Given the description of an element on the screen output the (x, y) to click on. 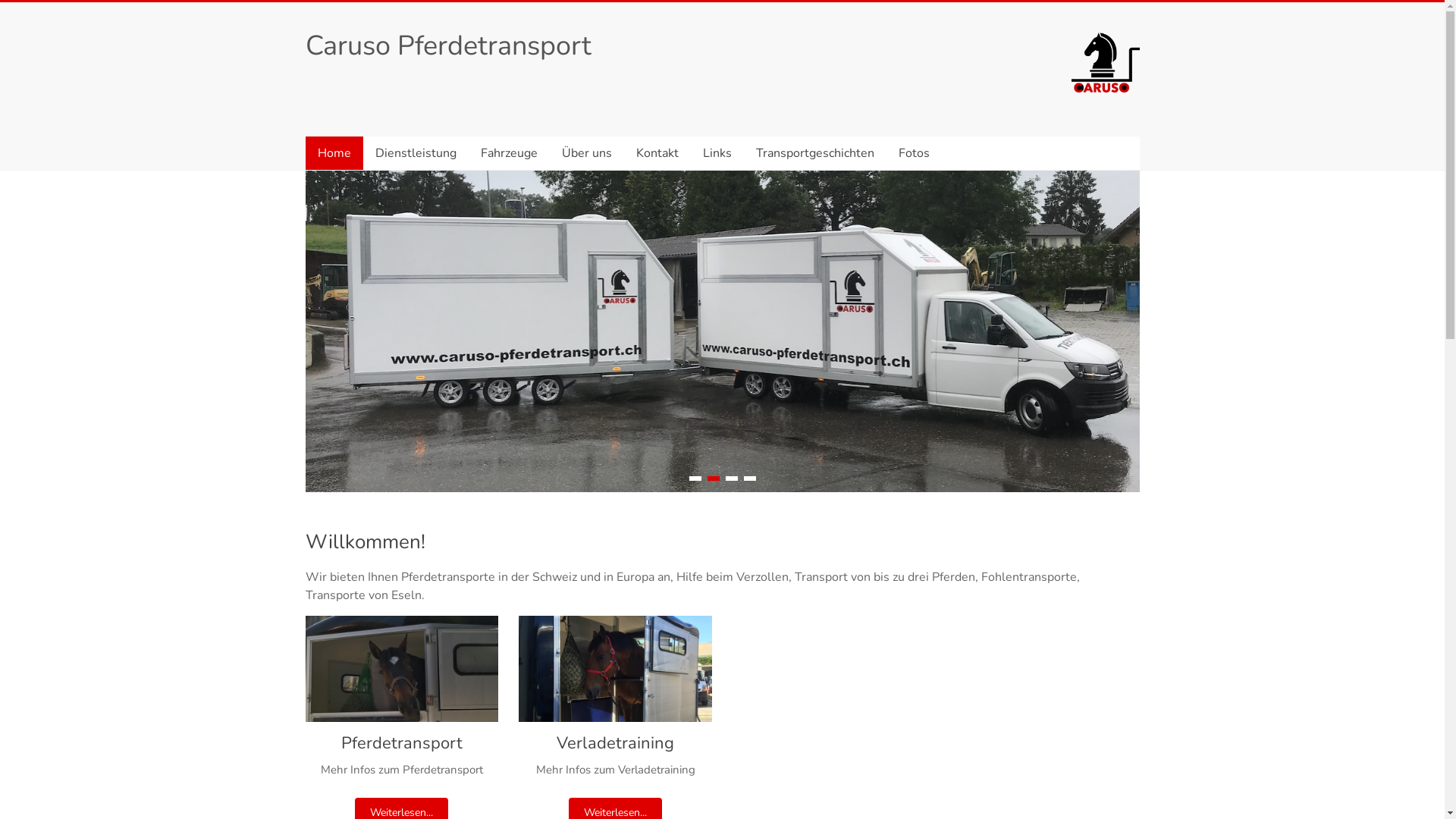
Caruso Pferdetransport Element type: text (447, 45)
Transportgeschichten Element type: text (814, 152)
Dienstleistung Element type: text (414, 152)
Fotos Element type: text (913, 152)
Verladetraining Element type: hover (615, 674)
Kontakt Element type: text (656, 152)
Links Element type: text (716, 152)
Pferdetransport Element type: hover (401, 674)
Verladetraining Element type: text (615, 742)
Pferdetransport Element type: text (401, 742)
Home Element type: text (333, 152)
Fahrzeuge Element type: text (508, 152)
